Given the description of an element on the screen output the (x, y) to click on. 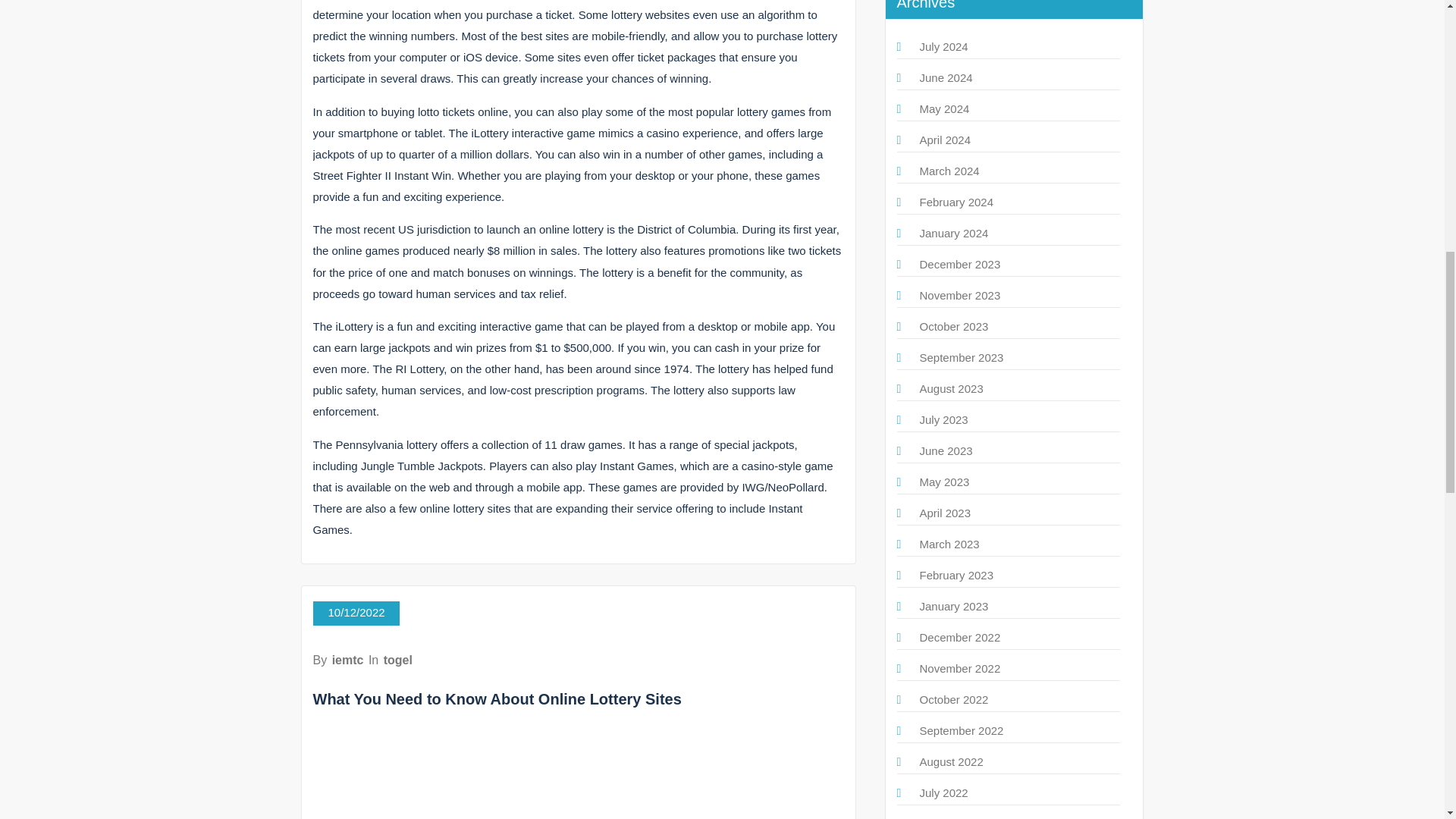
togel (397, 659)
June 2024 (945, 77)
iemtc (347, 659)
February 2023 (955, 574)
April 2023 (944, 512)
November 2023 (959, 295)
September 2023 (960, 357)
December 2023 (959, 264)
May 2024 (943, 108)
February 2024 (955, 201)
July 2024 (943, 46)
October 2023 (953, 326)
June 2023 (945, 450)
January 2023 (953, 605)
March 2023 (948, 543)
